Given the description of an element on the screen output the (x, y) to click on. 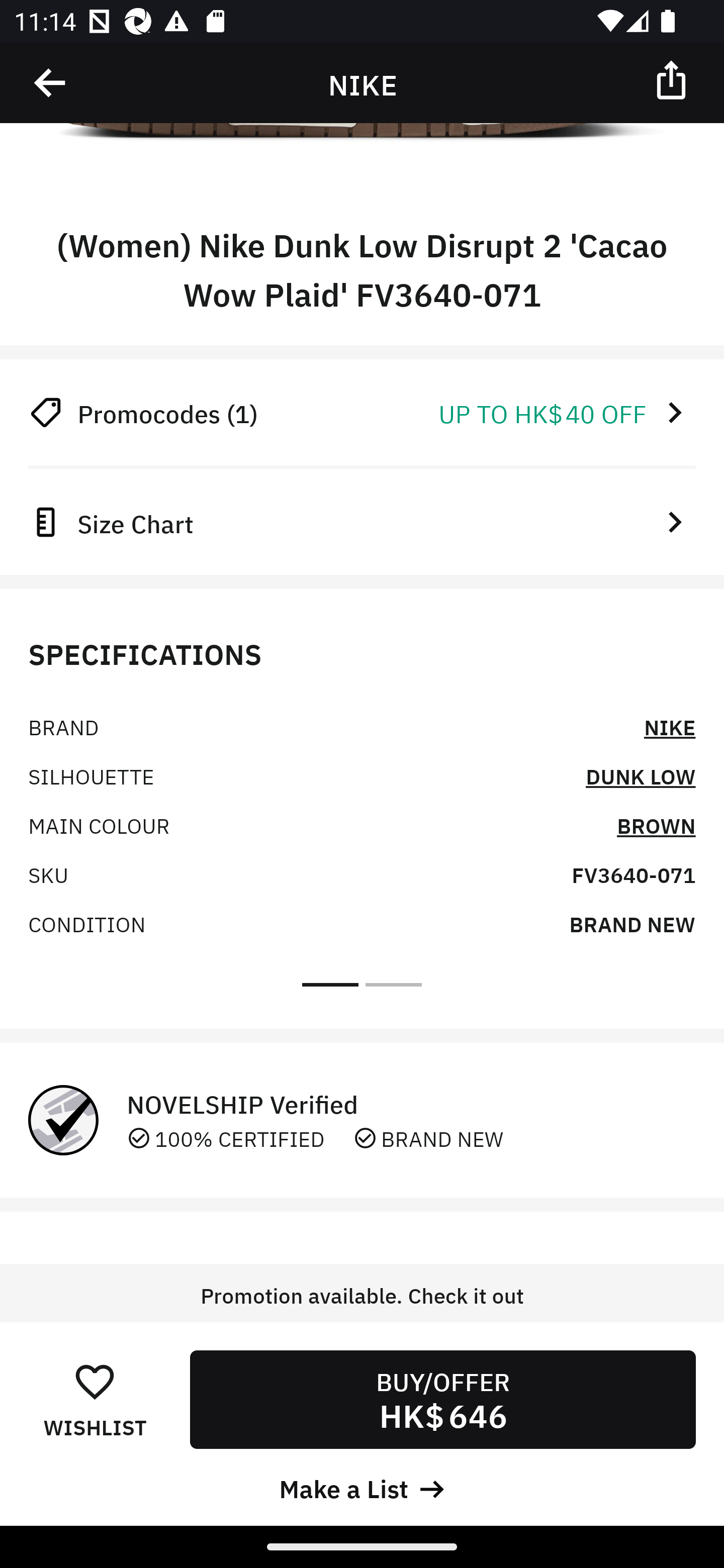
 (50, 83)
 (672, 79)
Promocodes (1) UP TO HK$ 40 OFF  (361, 412)
Size Chart  (361, 521)
NIKE (669, 725)
DUNK LOW (640, 775)
BROWN (655, 824)
FV3640-071 (633, 874)
BRAND NEW (632, 923)
BUY/OFFER HK$ 646 (442, 1399)
󰋕 (94, 1380)
Make a List (361, 1486)
